Given the description of an element on the screen output the (x, y) to click on. 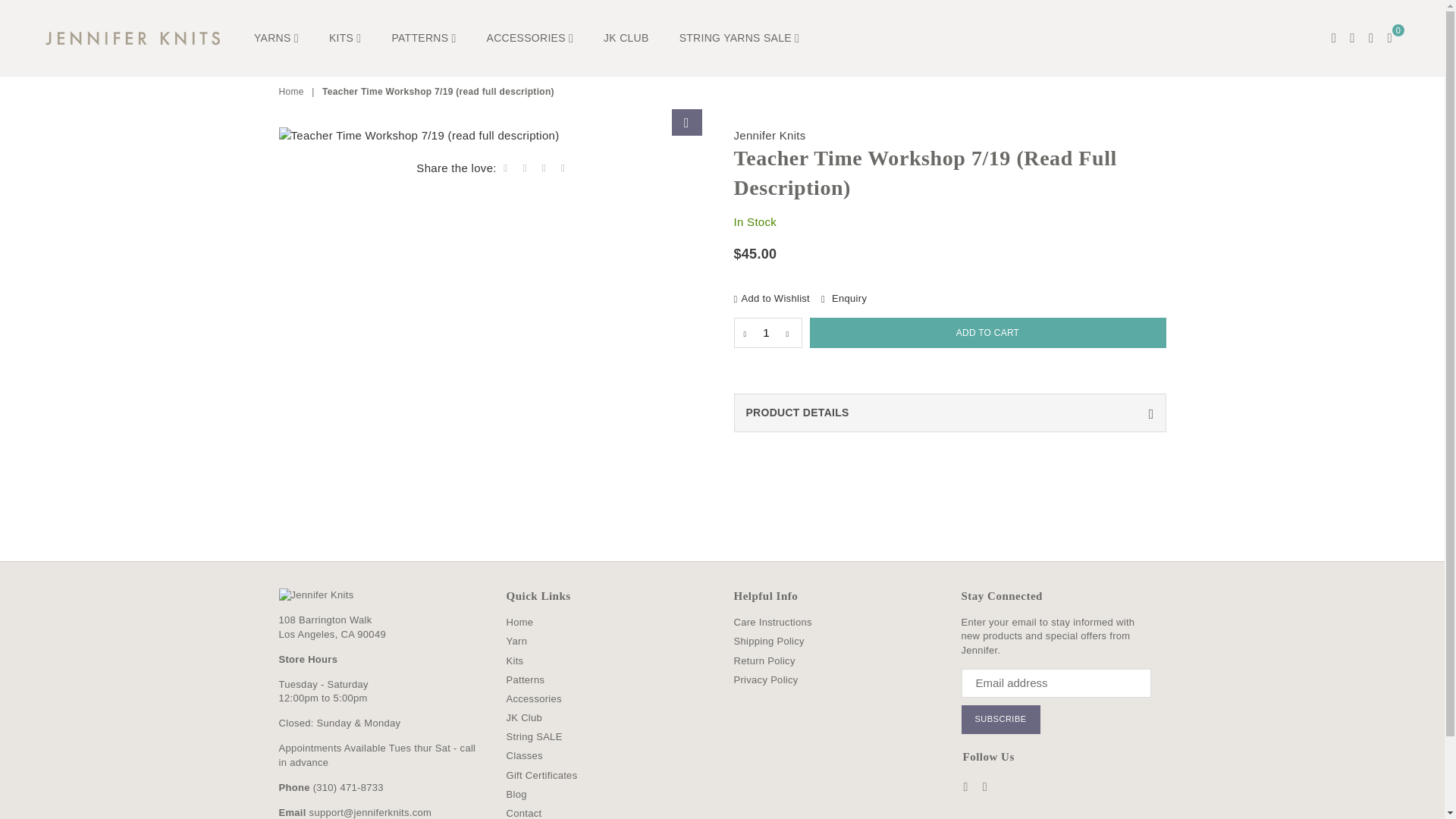
KITS (344, 37)
Share on Facebook (505, 167)
Jennifer Knits (769, 134)
YARNS (276, 37)
Pin on Pinterest (544, 167)
Jennifer Knits (144, 37)
Share by Email (563, 167)
Quantity (767, 332)
Back to the home page (292, 91)
Tweet on Twitter (524, 167)
